Given the description of an element on the screen output the (x, y) to click on. 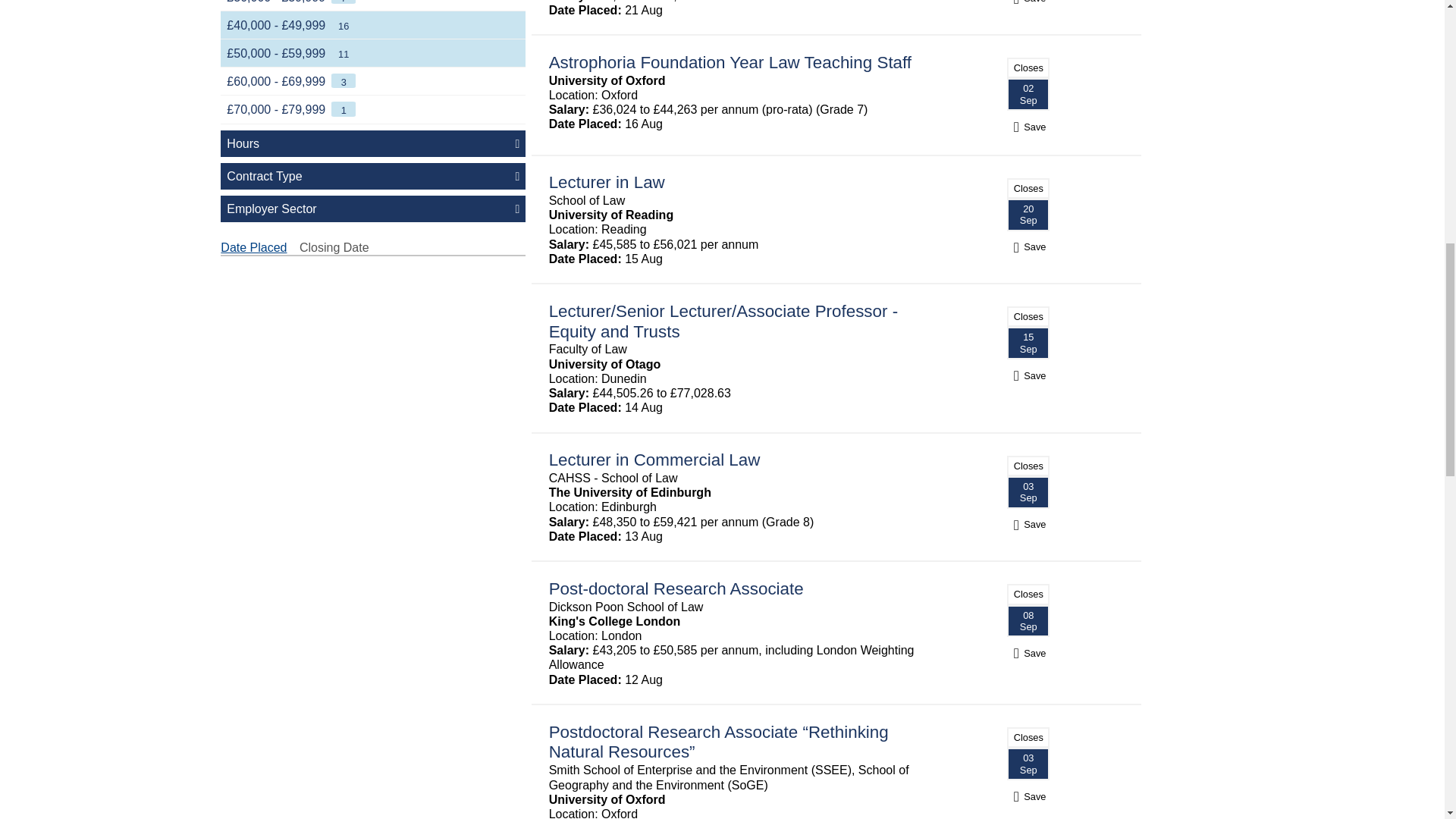
Save job (1027, 796)
Save job (1027, 126)
Save job (1027, 246)
Date Placed (253, 246)
Save job (1027, 0)
Save job (1027, 523)
Closing Date (334, 246)
Save job (1027, 375)
Save job (1027, 653)
